Given the description of an element on the screen output the (x, y) to click on. 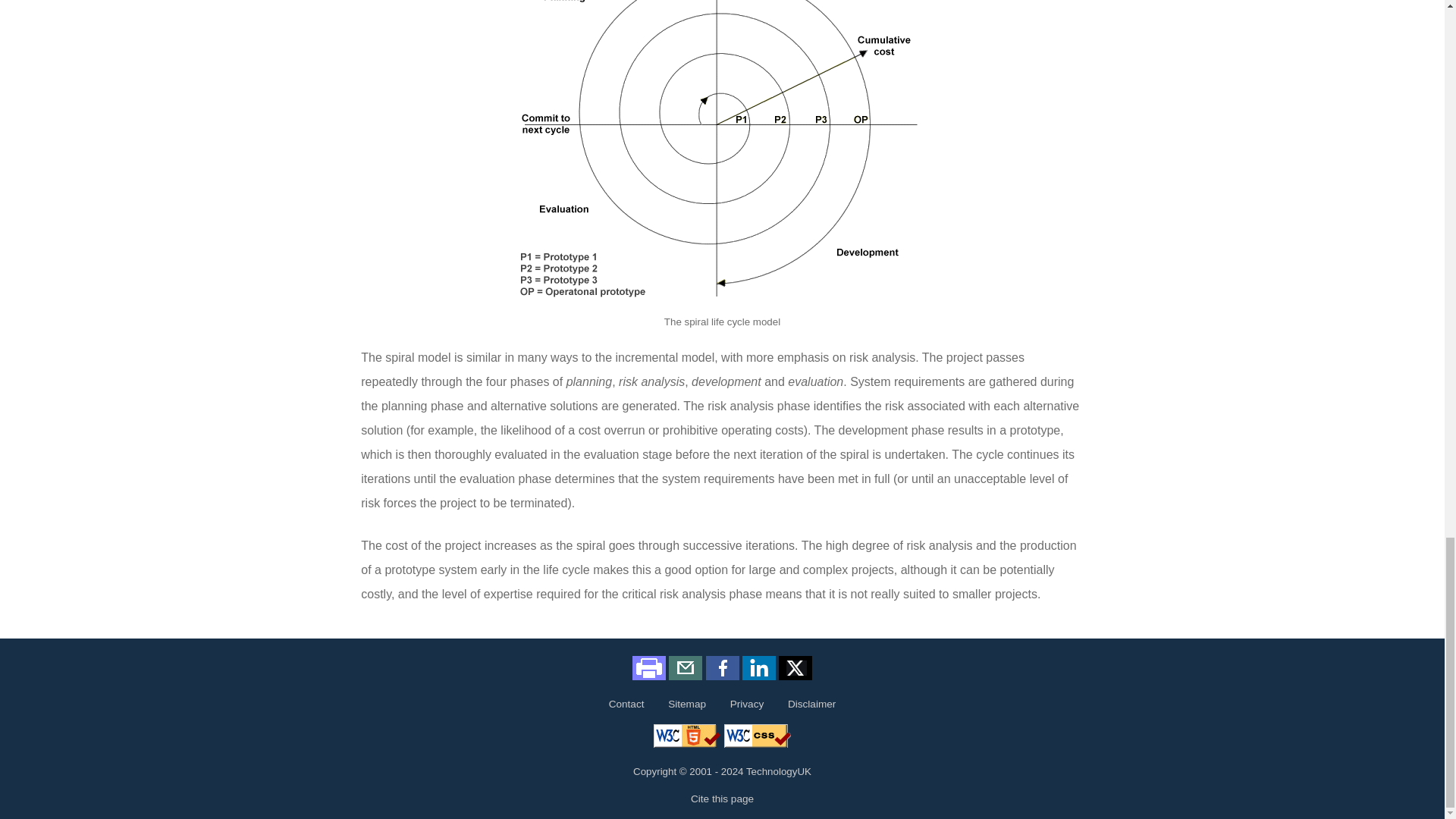
Contact (625, 704)
Privacy (746, 704)
Cite this page (720, 798)
Disclaimer (811, 704)
Sitemap (687, 704)
